Given the description of an element on the screen output the (x, y) to click on. 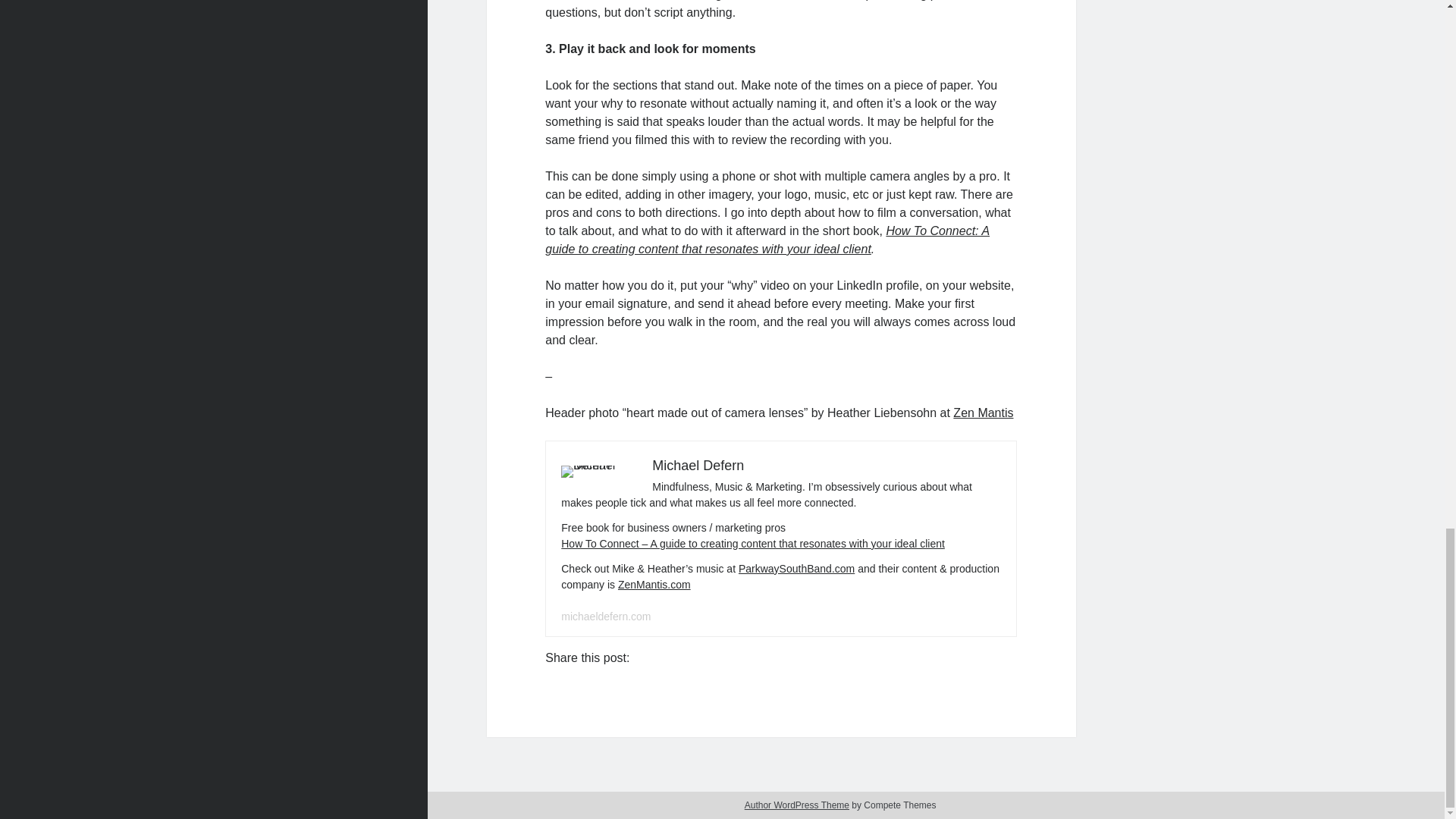
ParkwaySouthBand.com (796, 568)
ZenMantis.com (653, 584)
Zen Mantis (983, 412)
Michael Defern (698, 465)
